Given the description of an element on the screen output the (x, y) to click on. 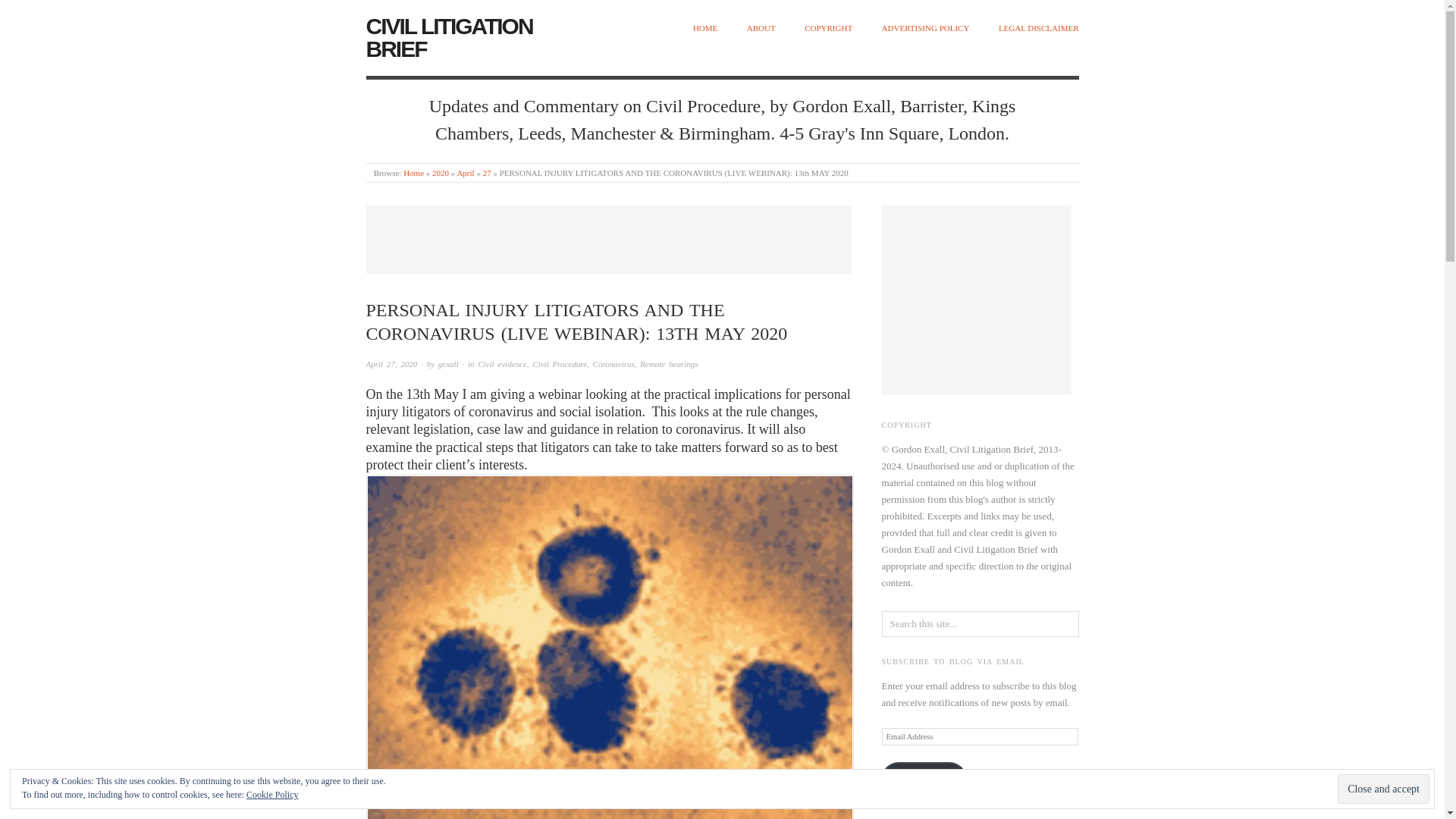
Civil Litigation Brief (413, 172)
LEGAL DISCLAIMER (1038, 28)
2020 (440, 172)
HOME (705, 28)
Search this site... (979, 623)
Remote hearings (668, 363)
Civil Procedure (559, 363)
Posts by gexall (448, 363)
gexall (448, 363)
CIVIL LITIGATION BRIEF (448, 37)
Search (22, 12)
April 2020 (465, 172)
Advertisement (607, 239)
April 27, 2020 (390, 363)
April (465, 172)
